Given the description of an element on the screen output the (x, y) to click on. 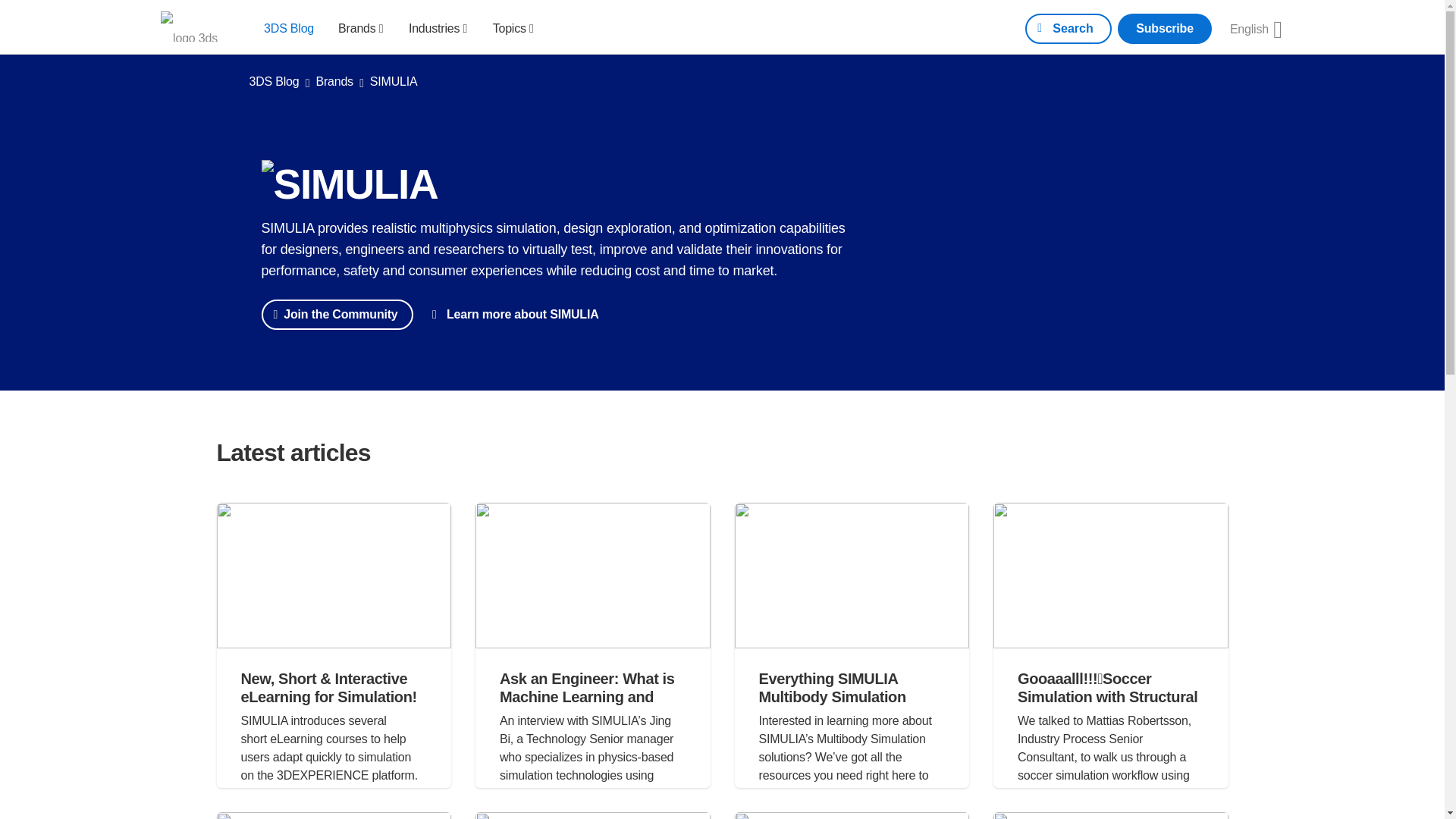
Brands (360, 27)
3DS Blog (288, 27)
Subscribe (1164, 28)
Industries (438, 27)
Topics (513, 27)
